Given the description of an element on the screen output the (x, y) to click on. 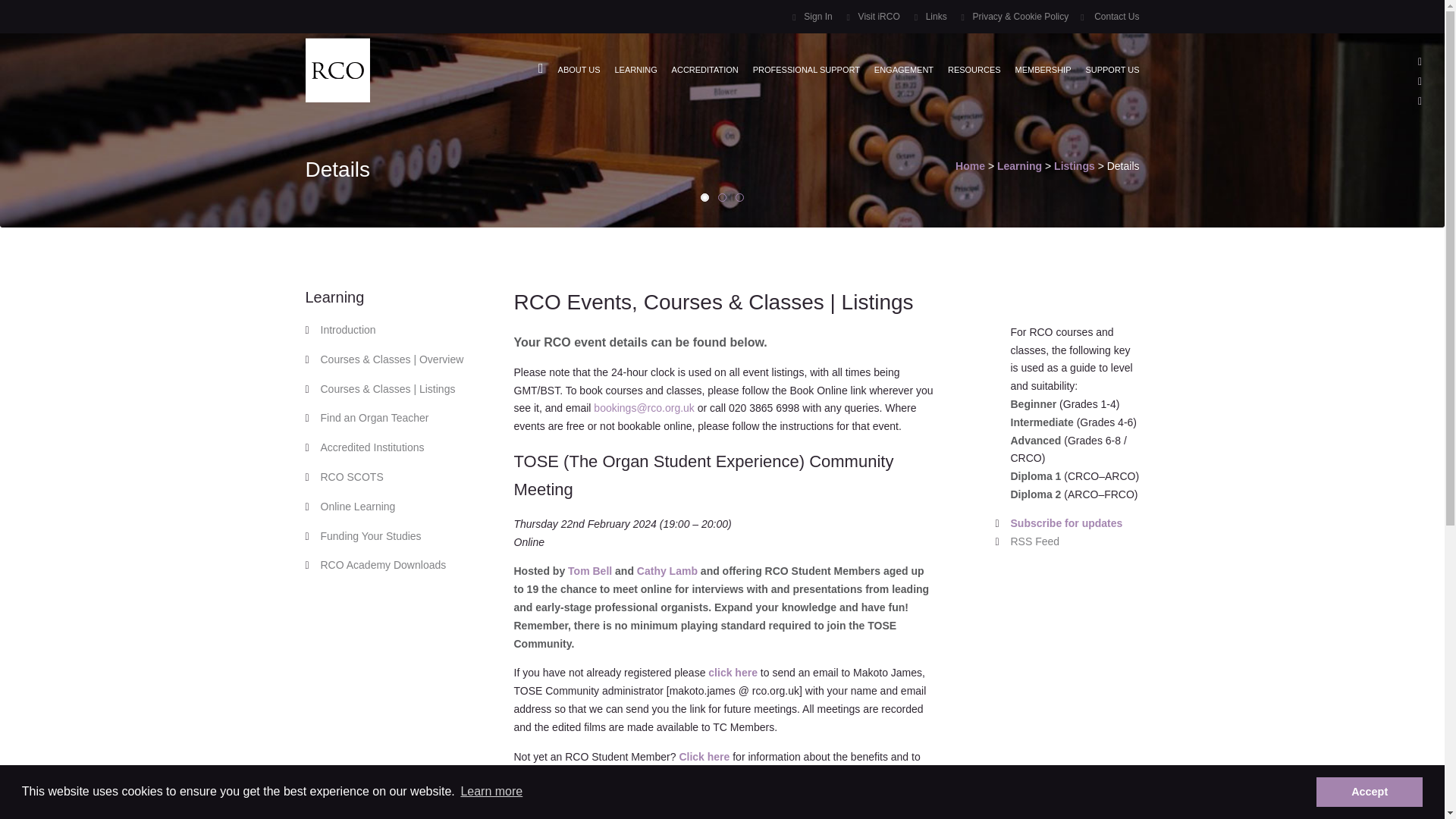
Tom Bell (589, 571)
Cathy Lamb (667, 571)
Accept (1369, 791)
Learn more (491, 791)
Click here (703, 756)
Click here  (538, 803)
click here (732, 672)
Click to view or subscribe to the RCO Events RSS feed (1074, 542)
